Given the description of an element on the screen output the (x, y) to click on. 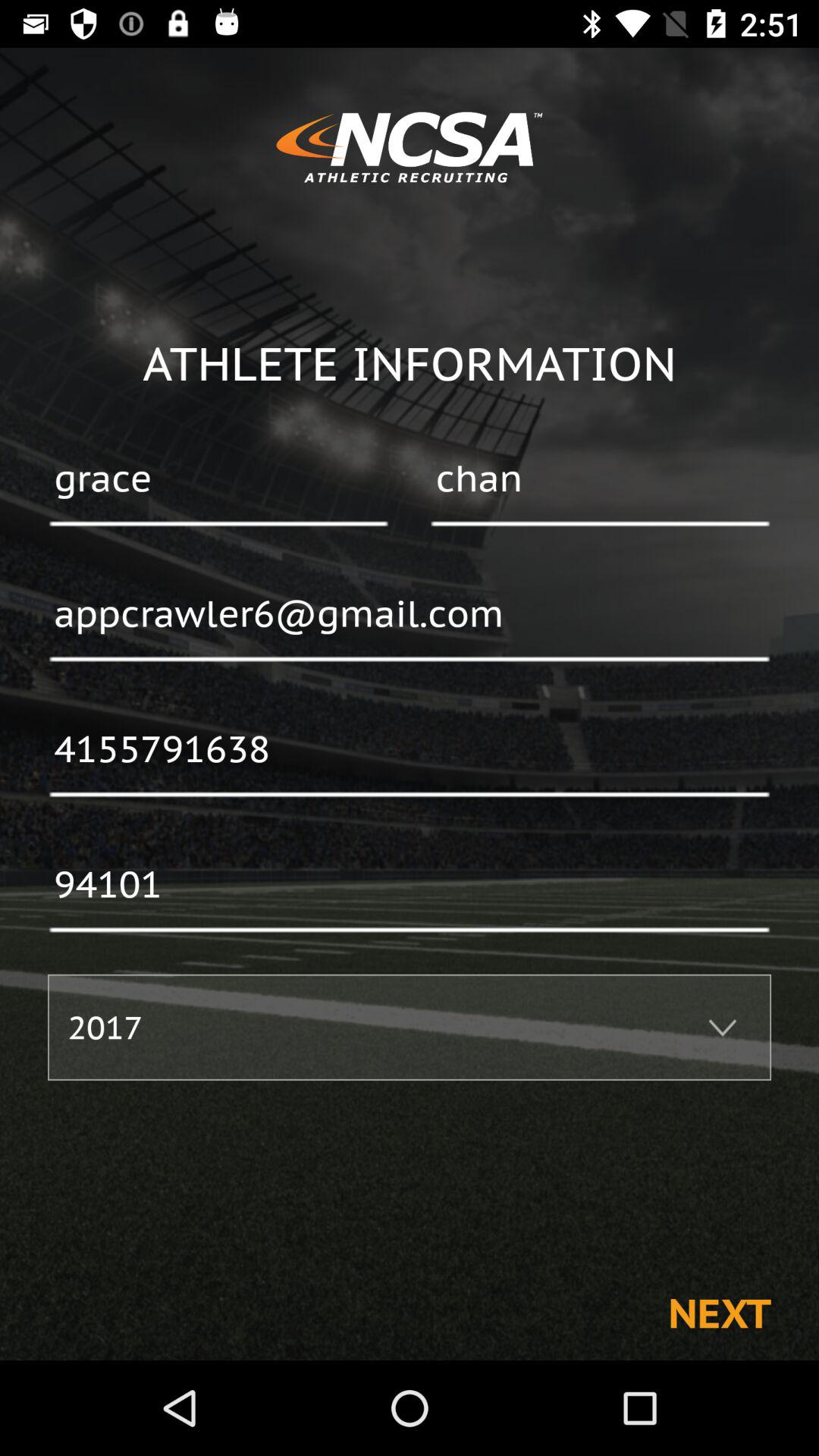
flip until grace (218, 479)
